Given the description of an element on the screen output the (x, y) to click on. 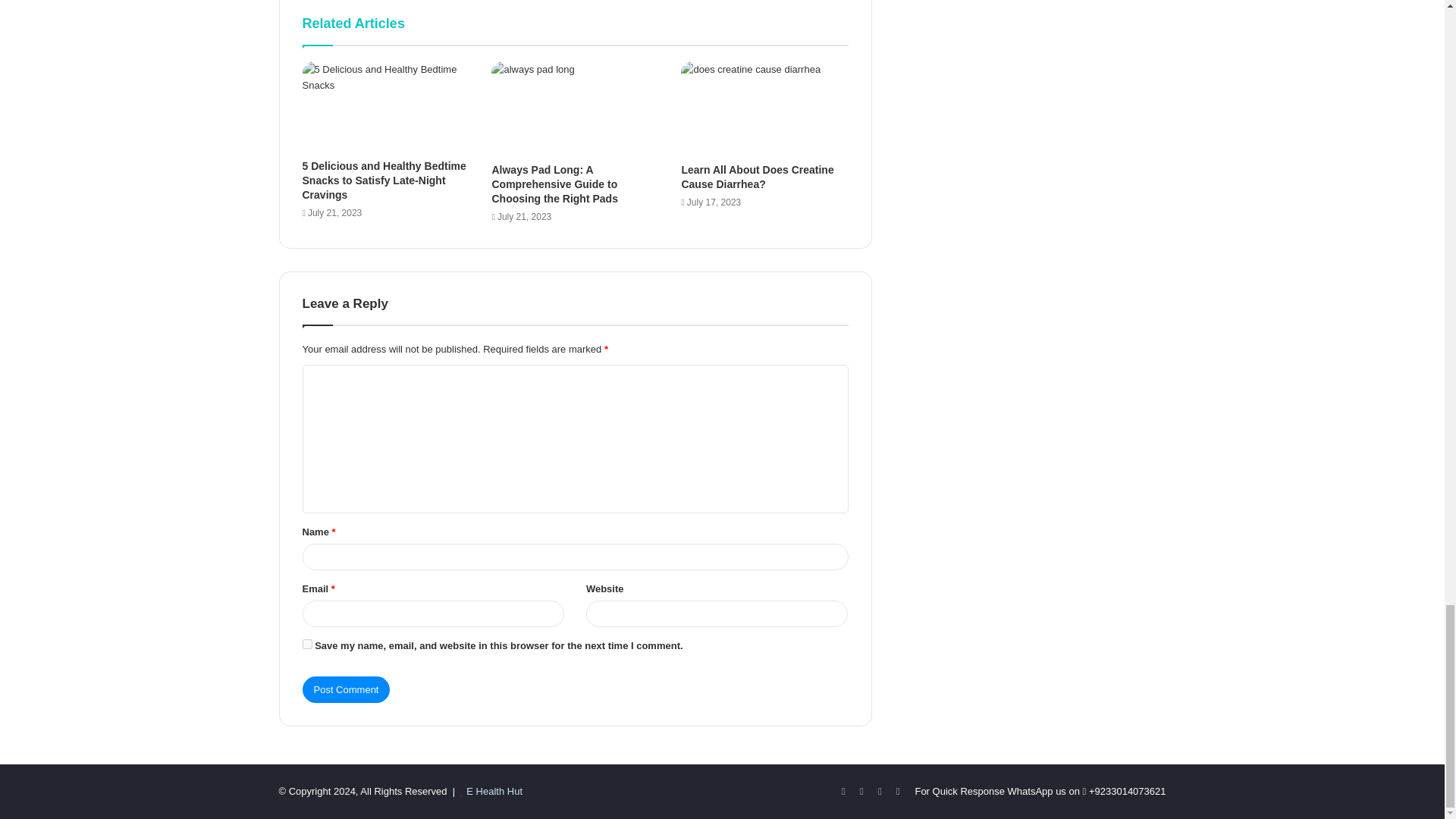
Post Comment (345, 689)
yes (306, 644)
